Given the description of an element on the screen output the (x, y) to click on. 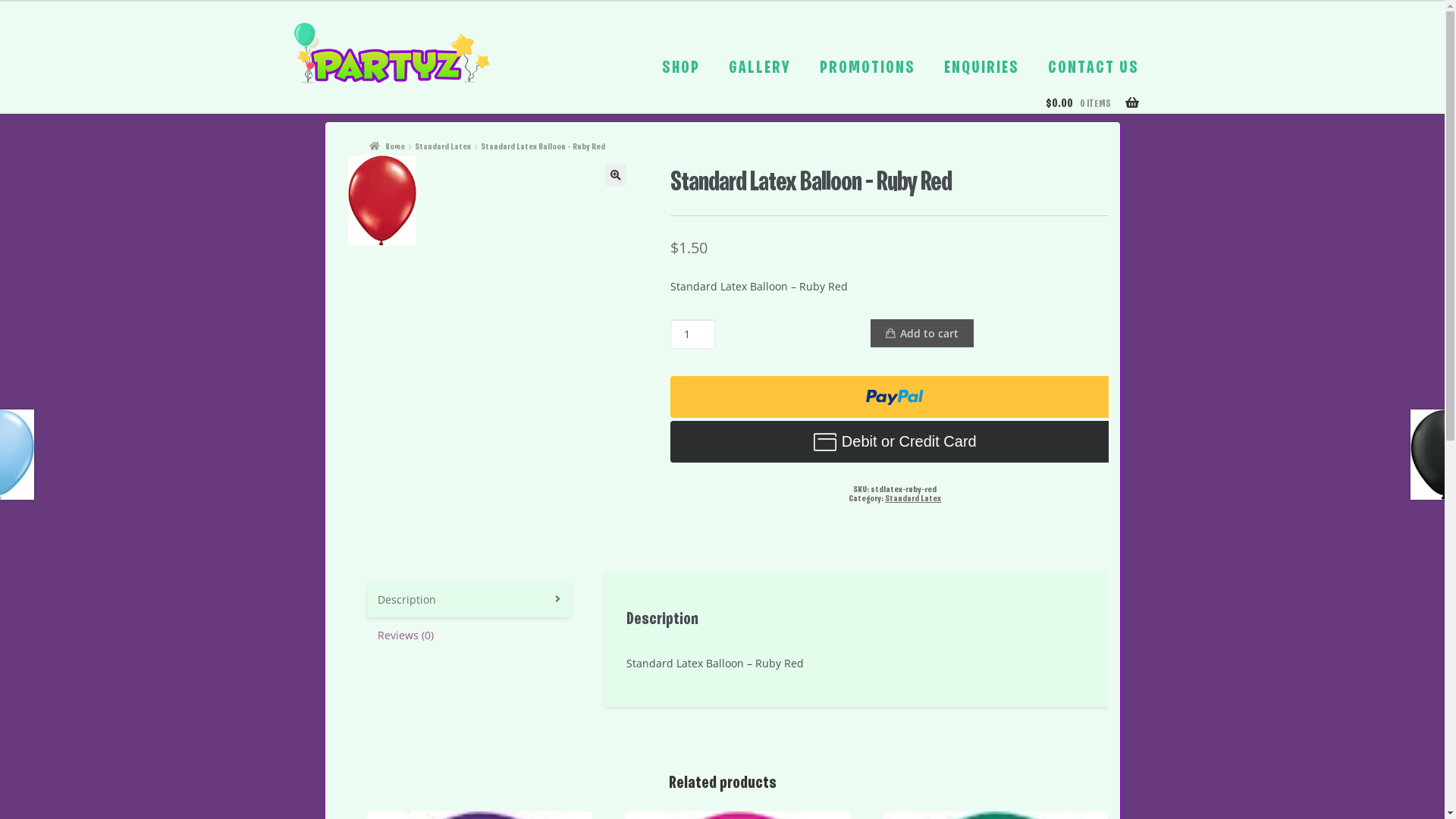
Reviews (0) Element type: text (469, 634)
Description Element type: text (469, 599)
CONTACT US Element type: text (1093, 68)
PayPal Element type: hover (894, 396)
Home Element type: text (386, 146)
GALLERY Element type: text (758, 68)
ruby_red_lr5 Element type: hover (381, 200)
ENQUIRIES Element type: text (980, 68)
Qty Element type: hover (692, 333)
Add to cart Element type: text (921, 332)
SHOP Element type: text (680, 68)
Standard Latex Element type: text (912, 498)
PayPal Element type: hover (894, 441)
PROMOTIONS Element type: text (866, 68)
Standard Latex Element type: text (442, 146)
$0.00 0 ITEMS Element type: text (1097, 114)
